Given the description of an element on the screen output the (x, y) to click on. 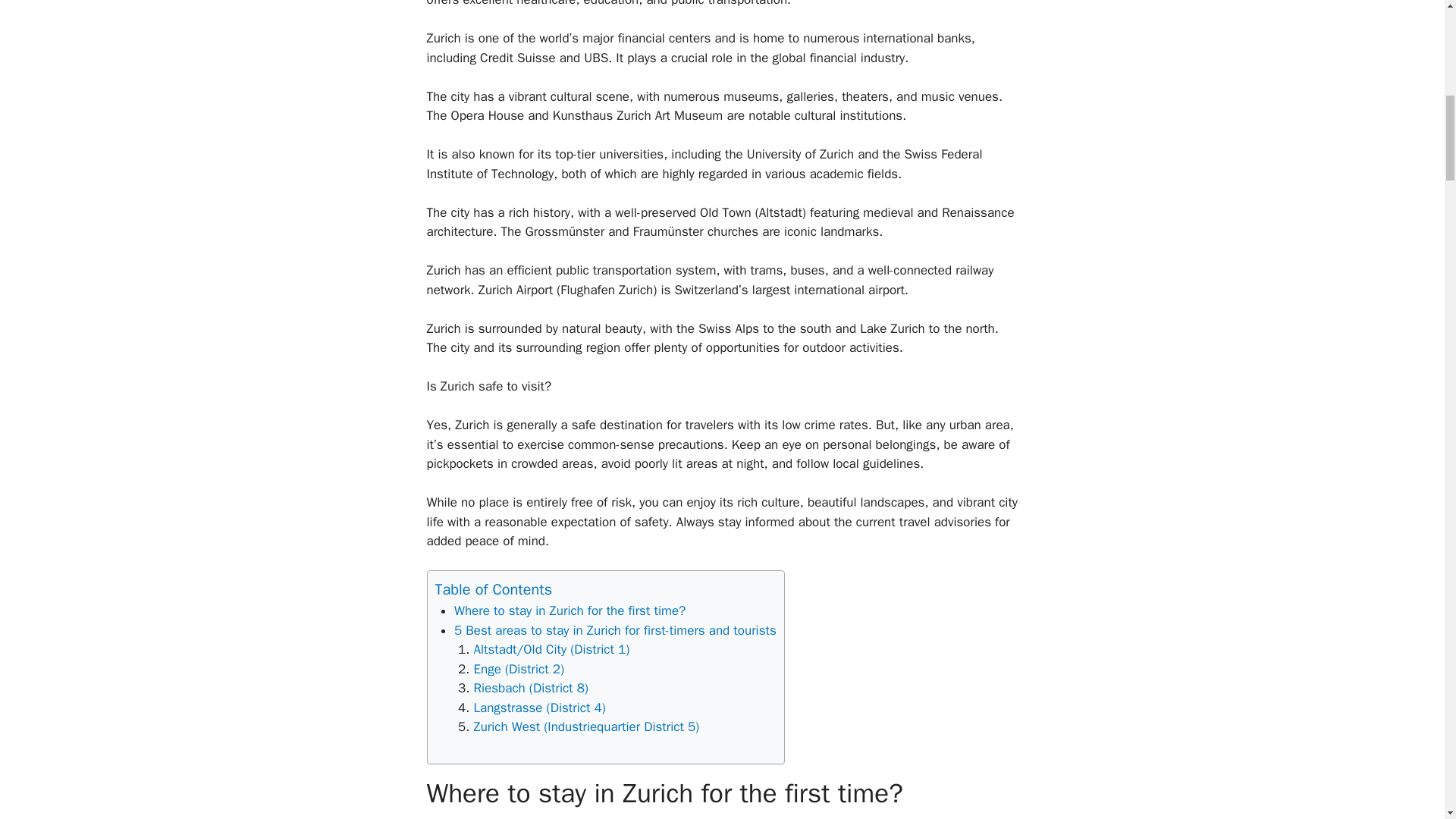
Where to stay in Zurich for the first time? (569, 610)
5 Best areas to stay in Zurich for first-timers and tourists (615, 630)
Table of Contents (494, 588)
